Given the description of an element on the screen output the (x, y) to click on. 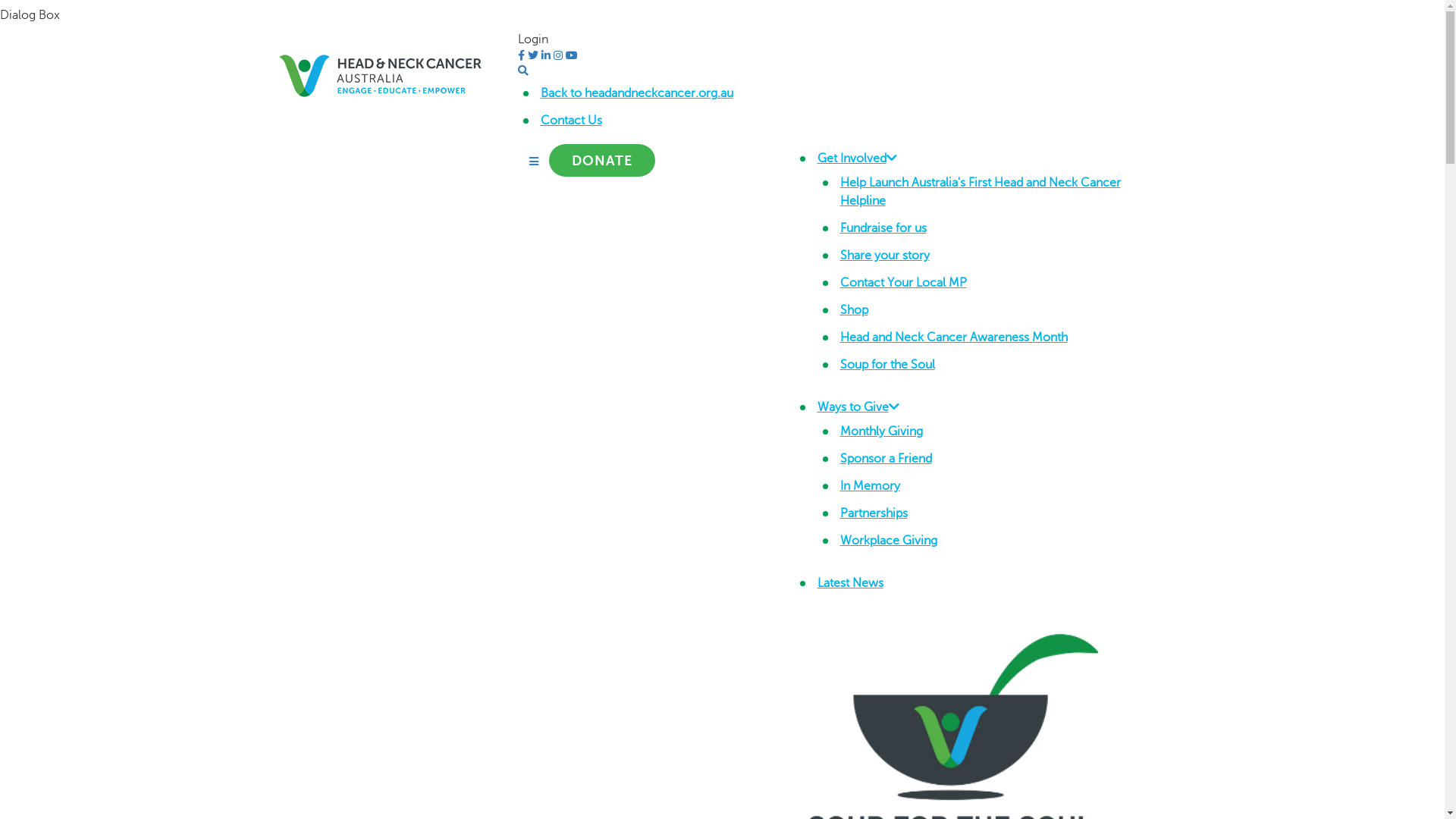
Soup for the Soul Element type: text (887, 364)
Sponsor a Friend Element type: text (885, 458)
Fundraise for us Element type: text (883, 228)
DONATE Element type: text (602, 160)
Partnerships Element type: text (873, 513)
Share your story Element type: text (884, 255)
Ways to Give Element type: text (858, 407)
Workplace Giving Element type: text (888, 540)
Monthly Giving Element type: text (881, 431)
Contact Your Local MP Element type: text (903, 282)
In Memory Element type: text (870, 485)
Login Element type: text (532, 39)
Latest News Element type: text (850, 582)
Shop Element type: text (854, 309)
Contact Us Element type: text (570, 120)
Get Involved Element type: text (857, 158)
Back to headandneckcancer.org.au Element type: text (635, 93)
Head and Neck Cancer Awareness Month Element type: text (953, 337)
Help Launch Australia's First Head and Neck Cancer Helpline Element type: text (980, 191)
